Given the description of an element on the screen output the (x, y) to click on. 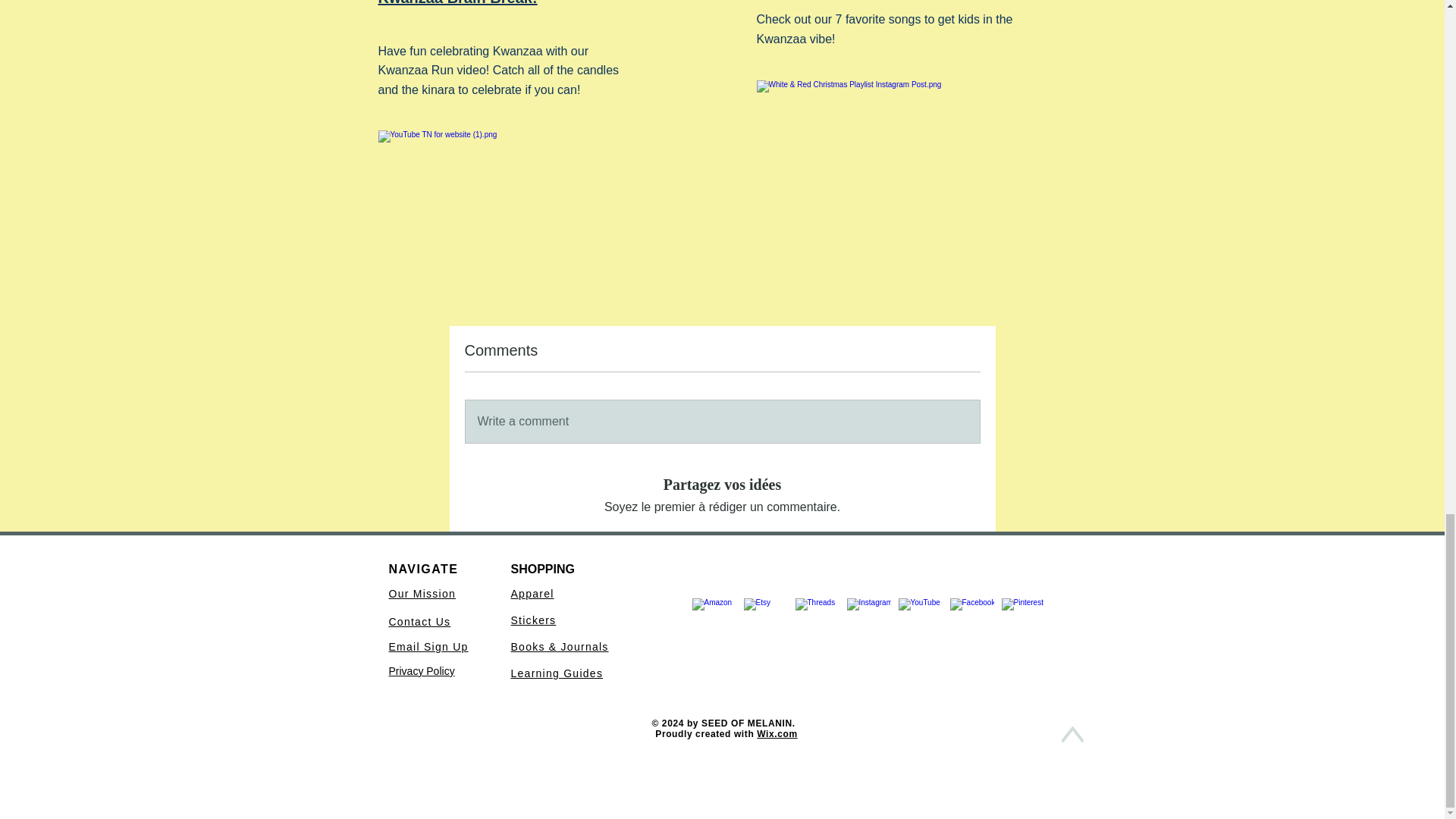
Learning Guides (557, 673)
Our Mission (421, 593)
Privacy Policy (421, 671)
Write a comment (722, 421)
Email Sign Up (427, 646)
Contact Us (418, 621)
